Given the description of an element on the screen output the (x, y) to click on. 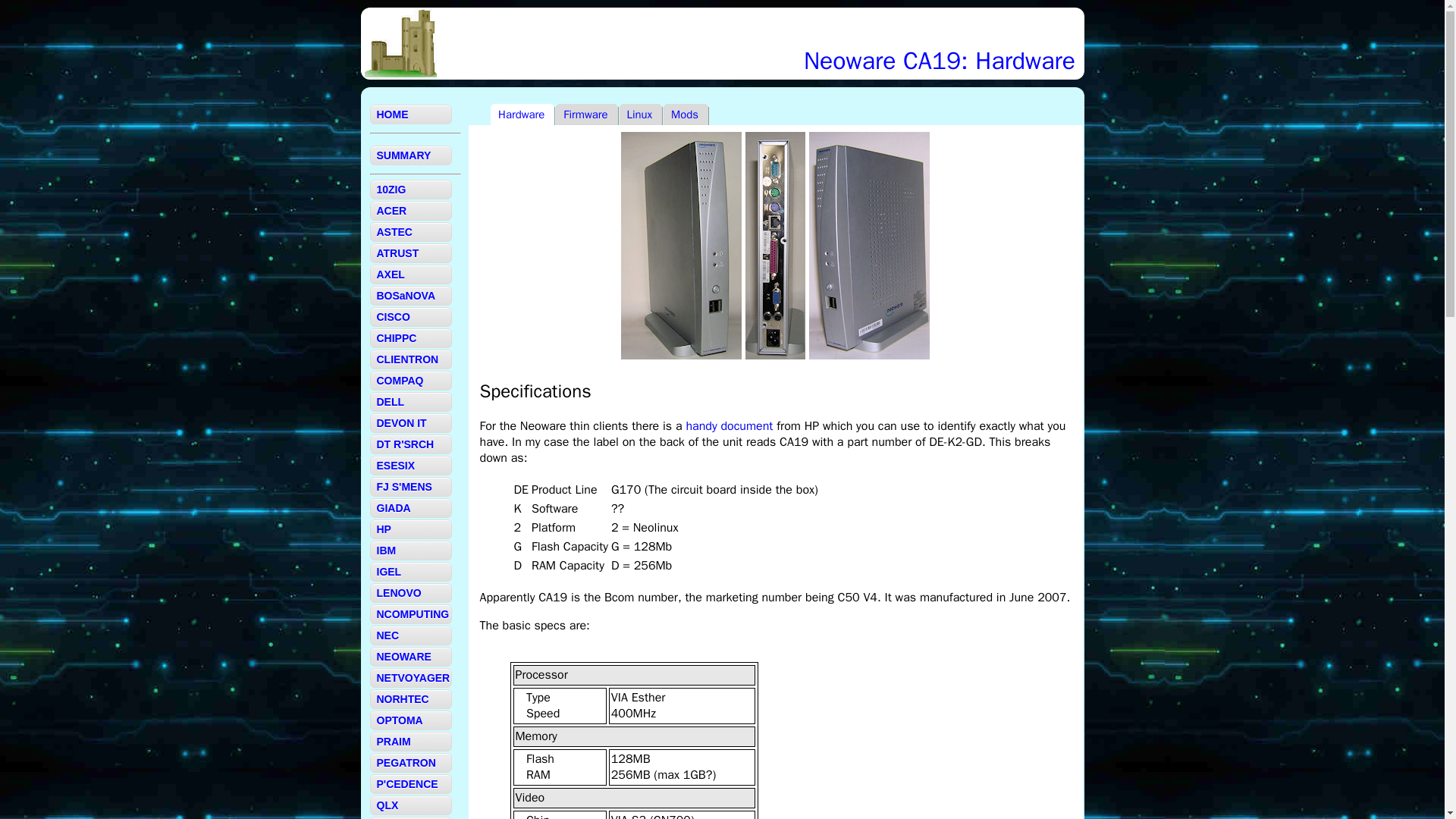
AXEL (410, 274)
ACER (410, 210)
10ZIG (410, 189)
ASTEC (410, 231)
HOME (410, 114)
SUMMARY (410, 155)
BOSaNOVA (410, 295)
CLIENTRON (410, 359)
CHIPPC (410, 338)
ATRUST (410, 252)
